Given the description of an element on the screen output the (x, y) to click on. 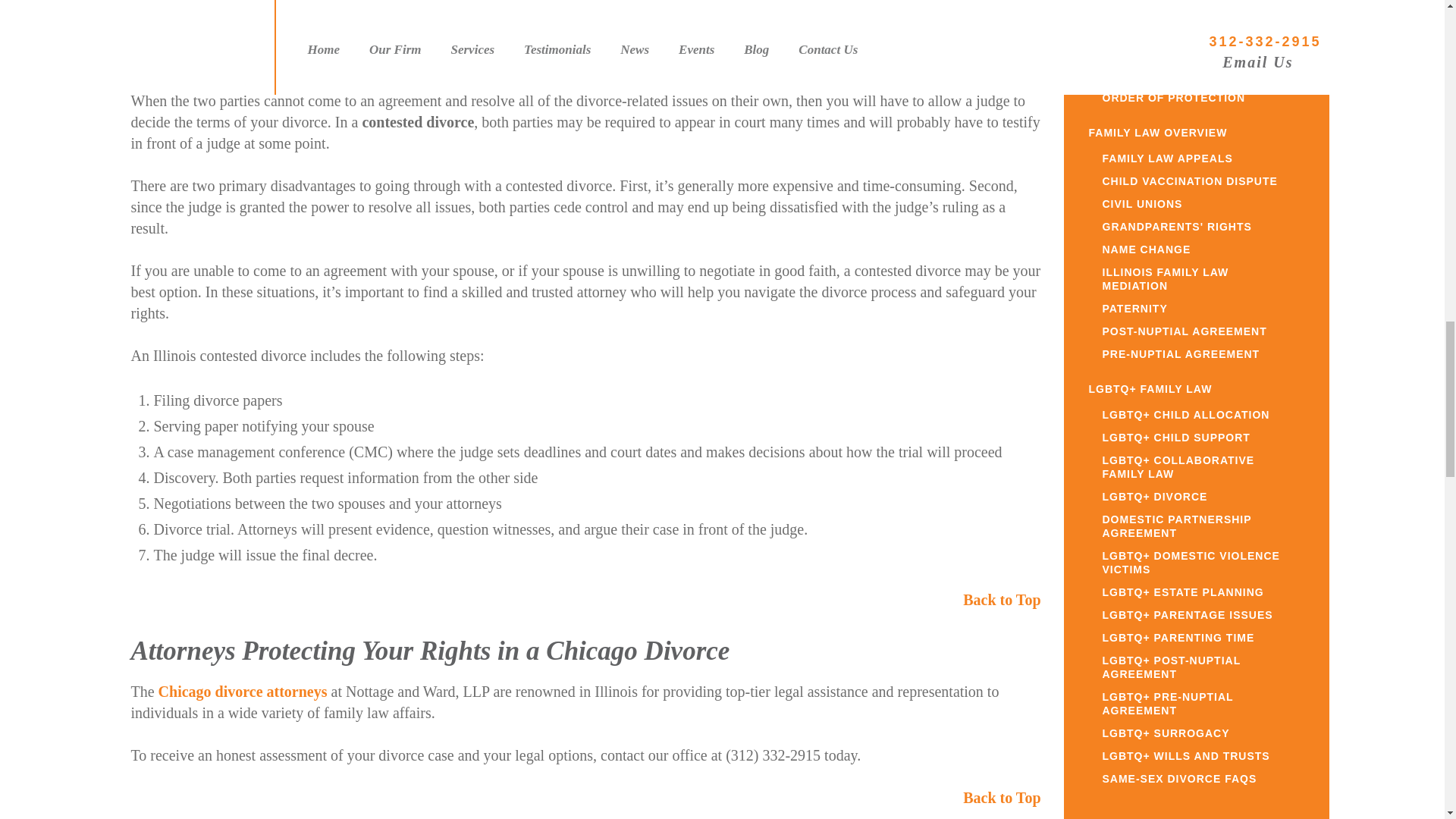
Back to Top (1001, 797)
Back to Top (1001, 599)
Back to Top (1001, 8)
Chicago divorce attorneys (242, 691)
